Given the description of an element on the screen output the (x, y) to click on. 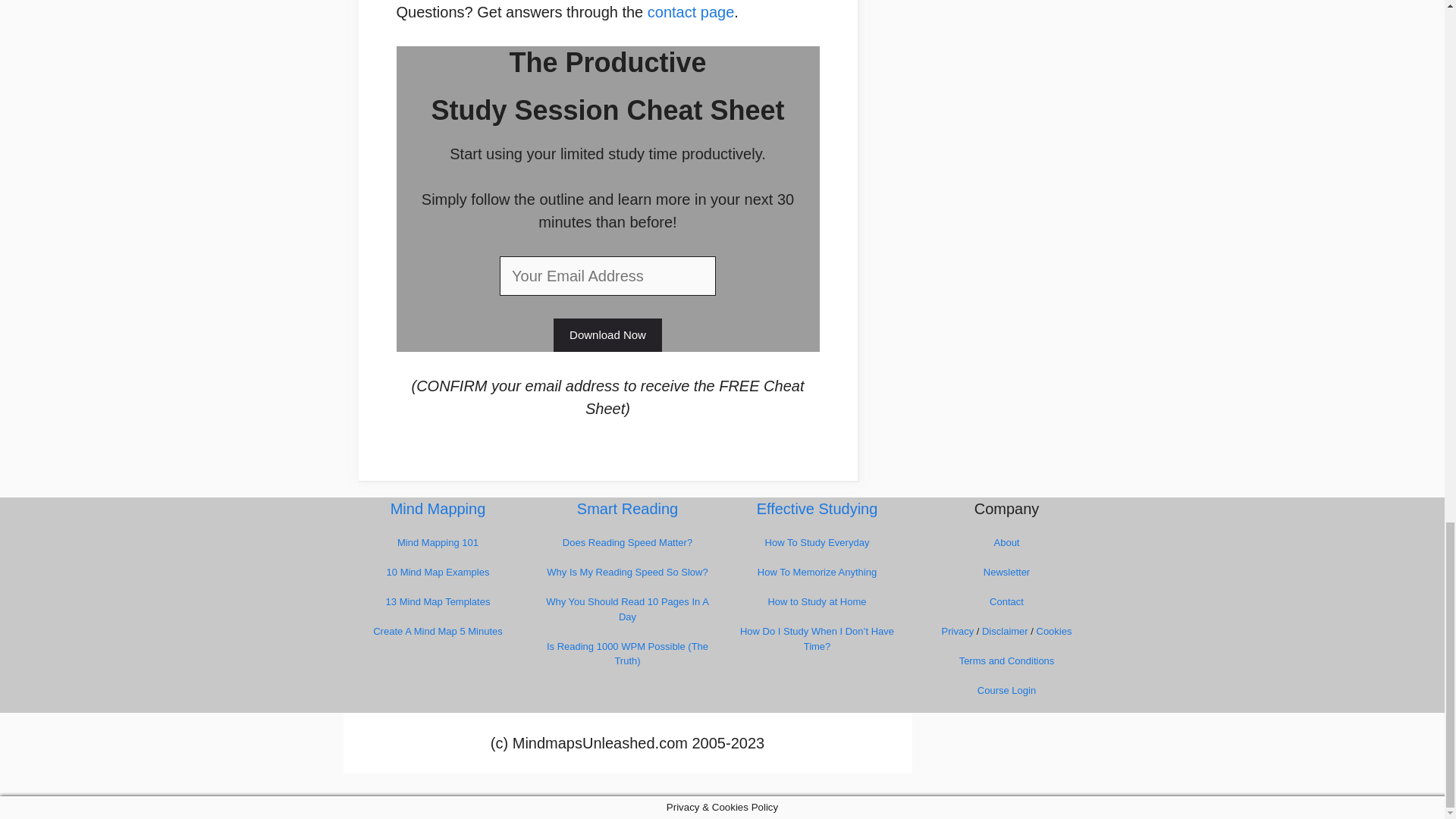
How To Memorize Anything (816, 572)
Course Login (1005, 690)
Contact (1006, 601)
Cookies (1053, 631)
13 Mind Map Templates (437, 601)
10 Mind Map Examples (438, 572)
Effective Studying (817, 508)
Create A Mind Map 5 Minutes (437, 631)
Newsletter (1006, 572)
Mind Mapping 101 (438, 542)
Download Now (607, 335)
Mind Mapping (438, 508)
How To Study Everyday (817, 542)
How to Study at Home (816, 601)
Smart Reading (627, 508)
